Given the description of an element on the screen output the (x, y) to click on. 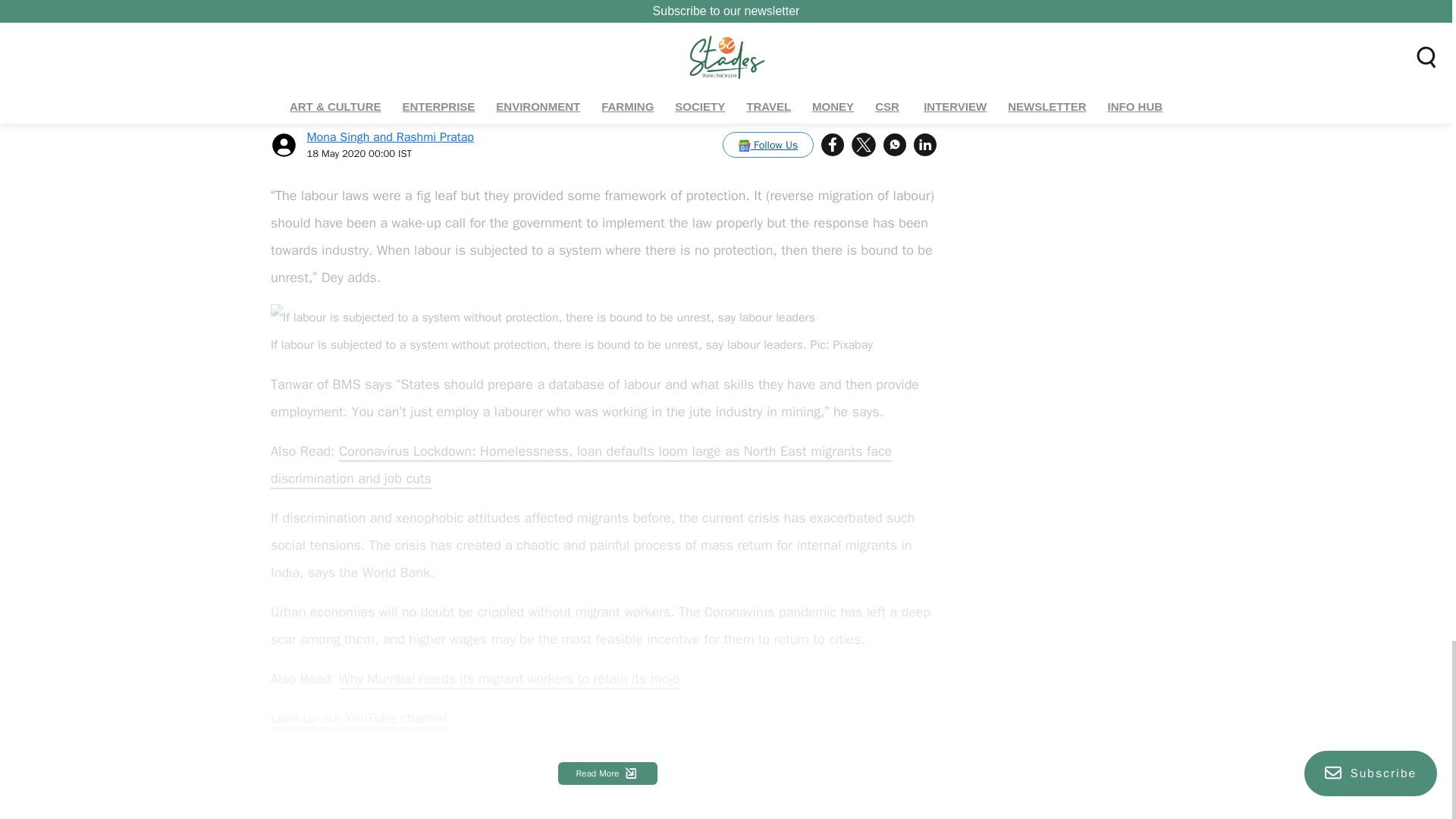
Look up our YouTube channel (358, 718)
Why Mumbai needs its migrant workers to retain its mojo (509, 678)
Read More (607, 773)
